Given the description of an element on the screen output the (x, y) to click on. 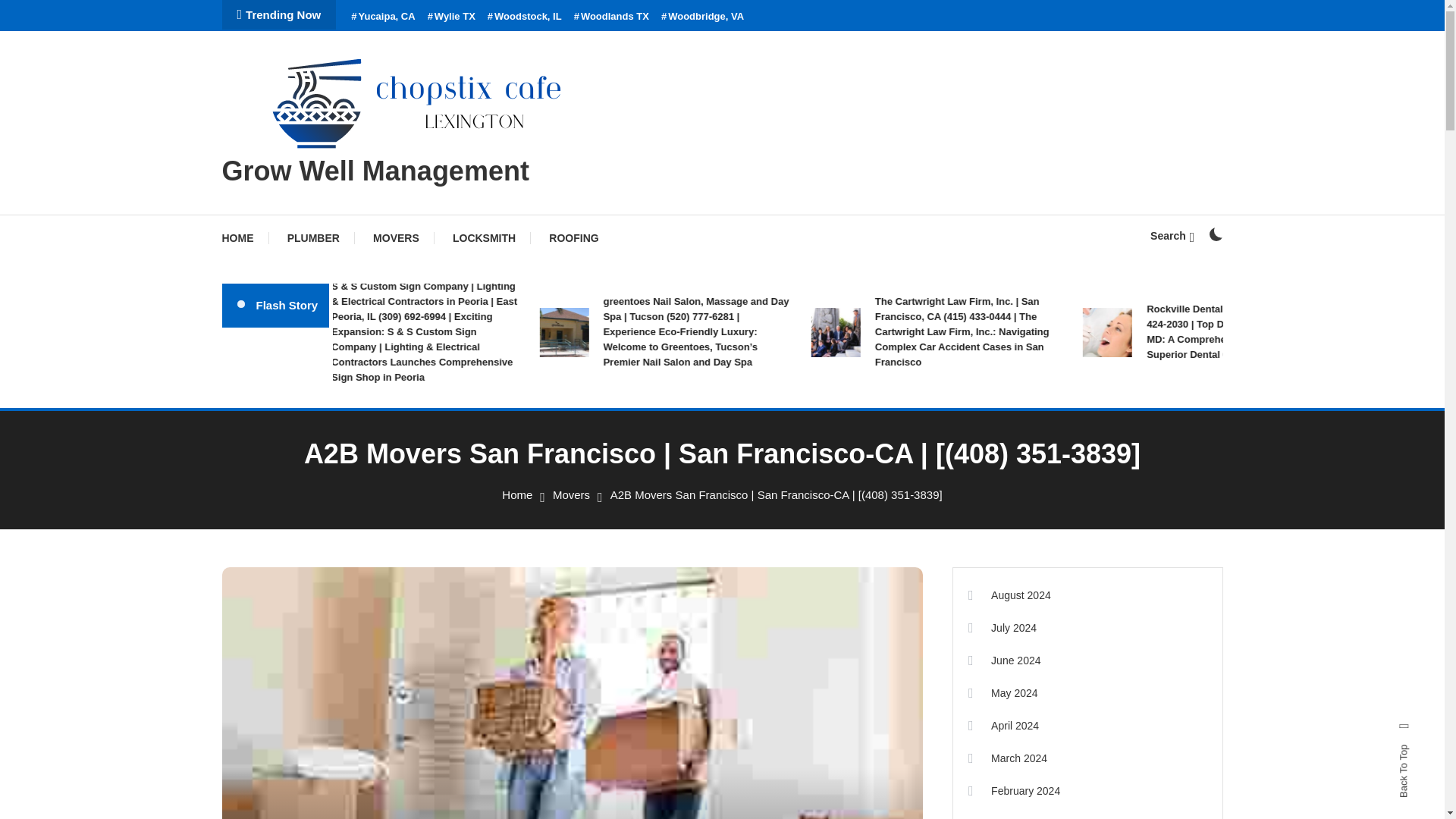
Movers (571, 494)
Search (1171, 235)
PLUMBER (313, 238)
HOME (244, 238)
Wylie TX (452, 16)
Yucaipa, CA (382, 16)
Woodstock, IL (524, 16)
Woodbridge, VA (702, 16)
on (1215, 233)
Woodlands TX (611, 16)
